Given the description of an element on the screen output the (x, y) to click on. 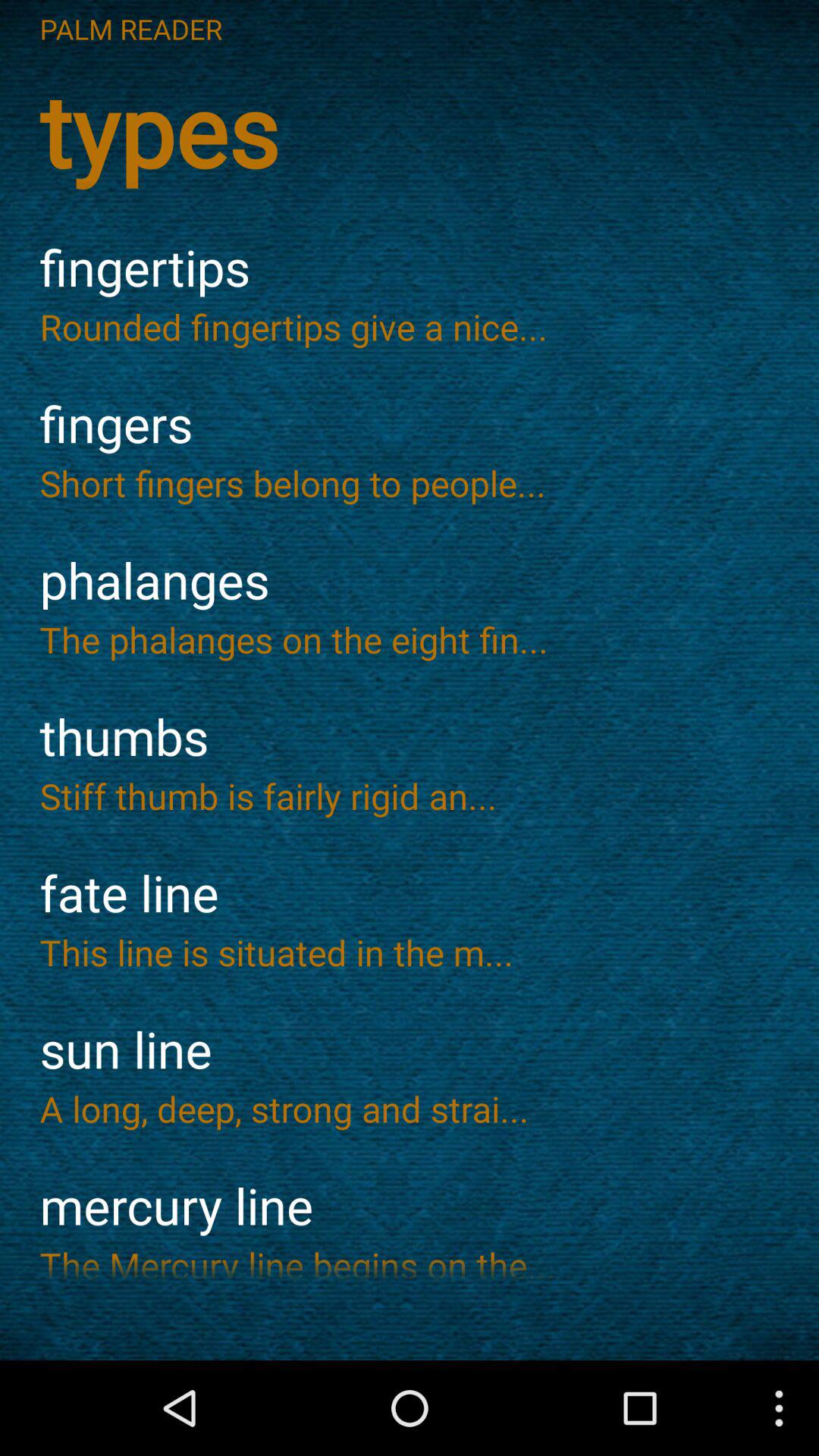
click the app below thumbs (409, 795)
